Given the description of an element on the screen output the (x, y) to click on. 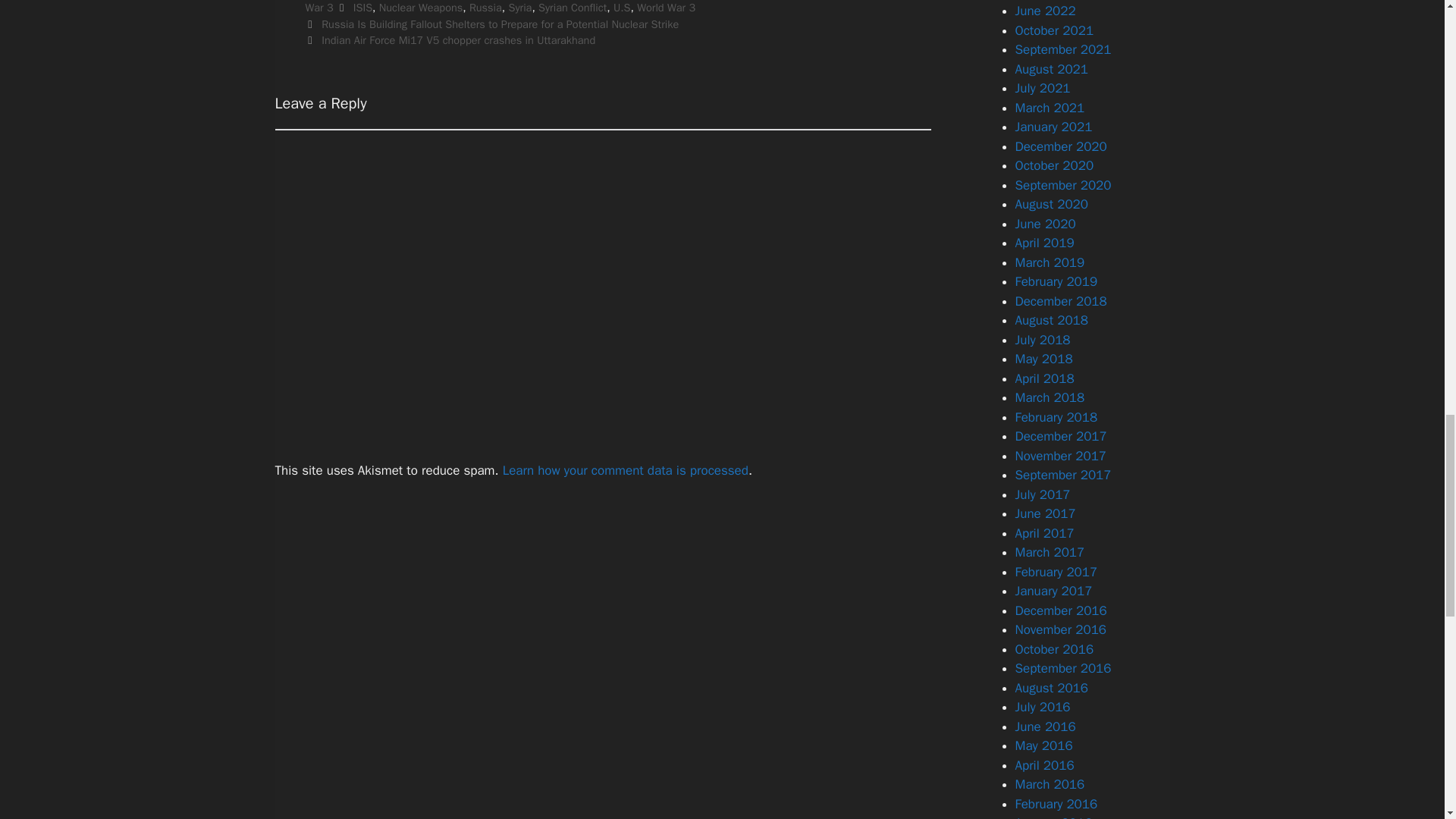
Syrian Conflict (572, 7)
Nuclear Weapons (420, 7)
World War 3 (593, 7)
Syria (520, 7)
World War 3 (666, 7)
U.S (621, 7)
Russia (485, 7)
ISIS (362, 7)
